Given the description of an element on the screen output the (x, y) to click on. 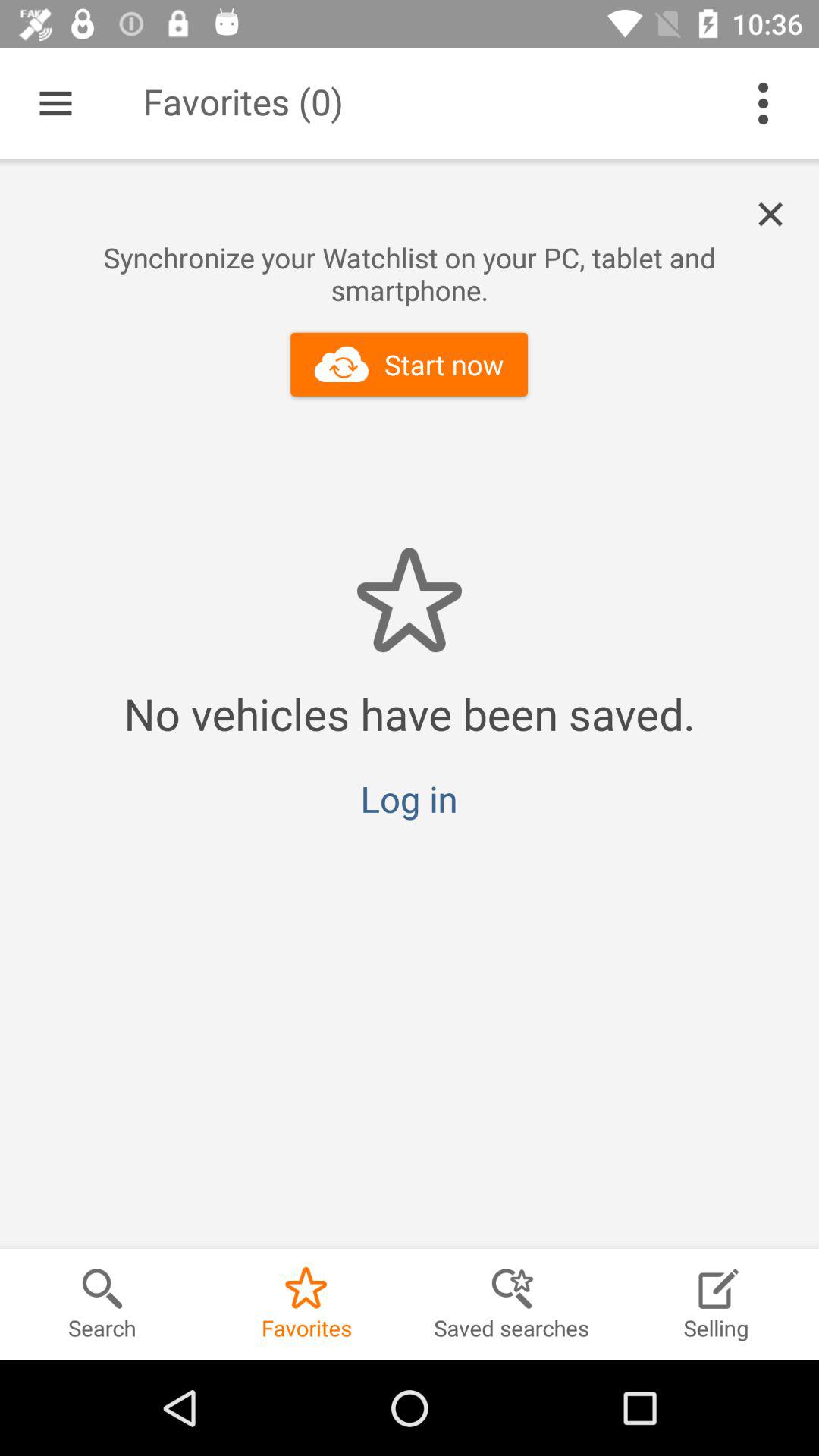
turn on the item below synchronize your watchlist icon (408, 364)
